Given the description of an element on the screen output the (x, y) to click on. 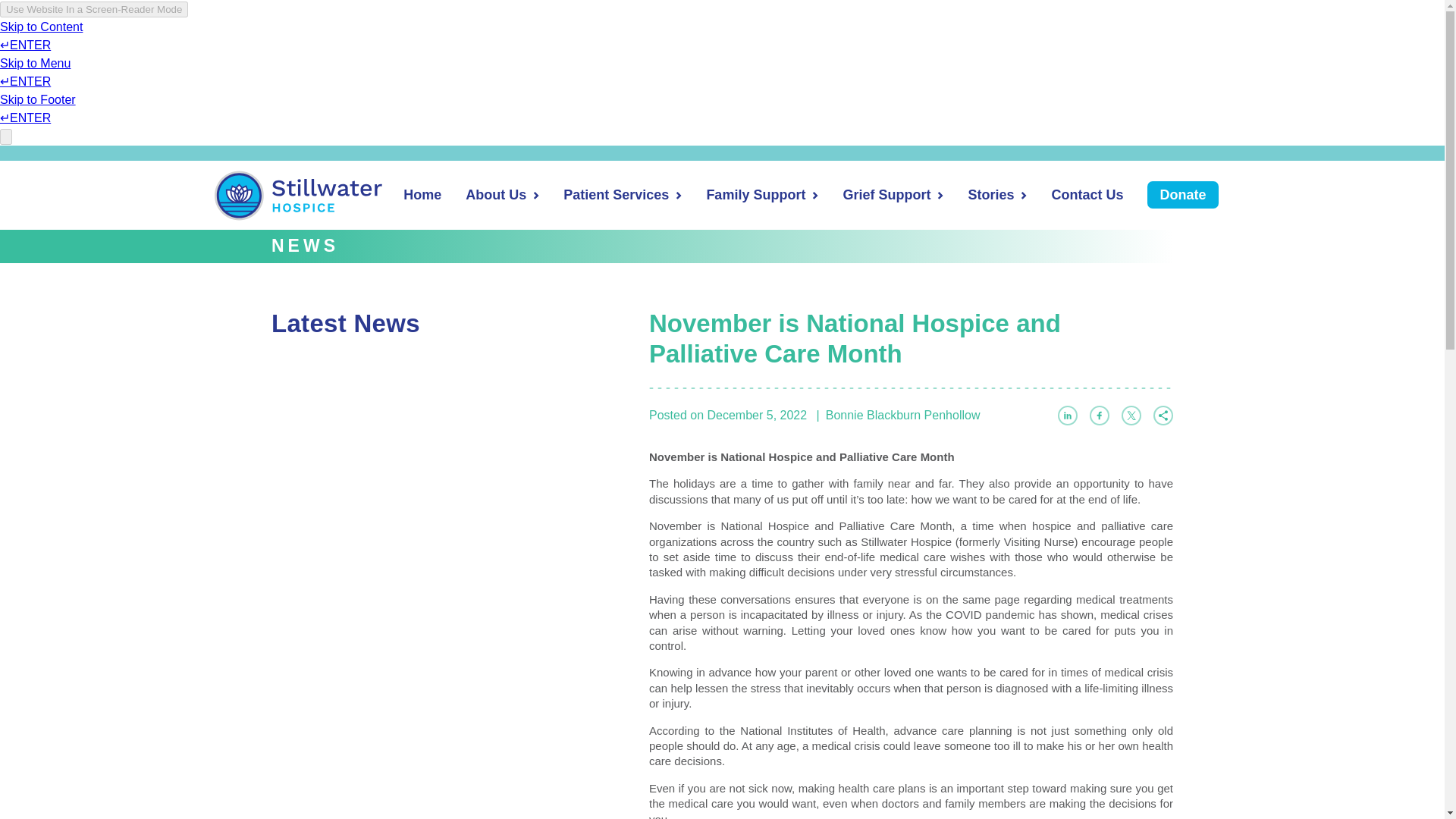
Home (422, 194)
About Us (495, 194)
Patient Services (615, 194)
Grief Support (886, 194)
Family Support (755, 194)
Stories (990, 194)
